Given the description of an element on the screen output the (x, y) to click on. 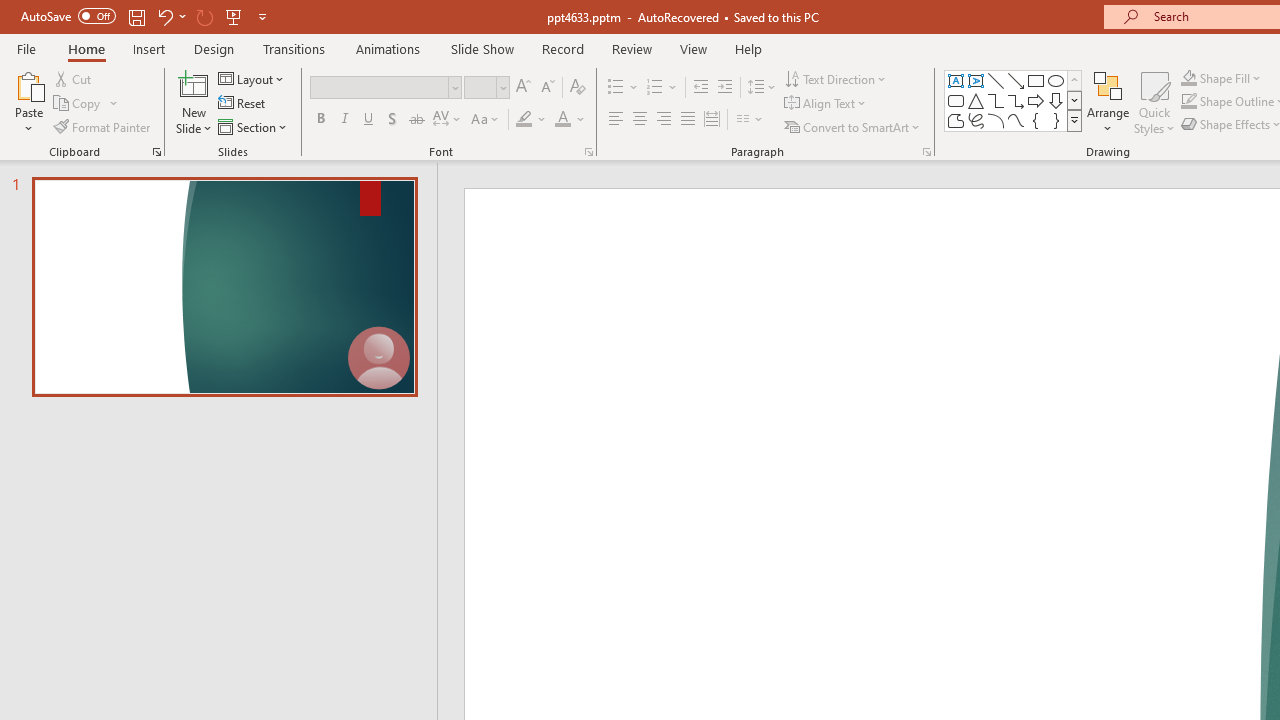
Align Right (663, 119)
Align Left (616, 119)
Arrow: Down (1055, 100)
Line (995, 80)
Connector: Elbow (995, 100)
Oval (1055, 80)
Italic (344, 119)
